Given the description of an element on the screen output the (x, y) to click on. 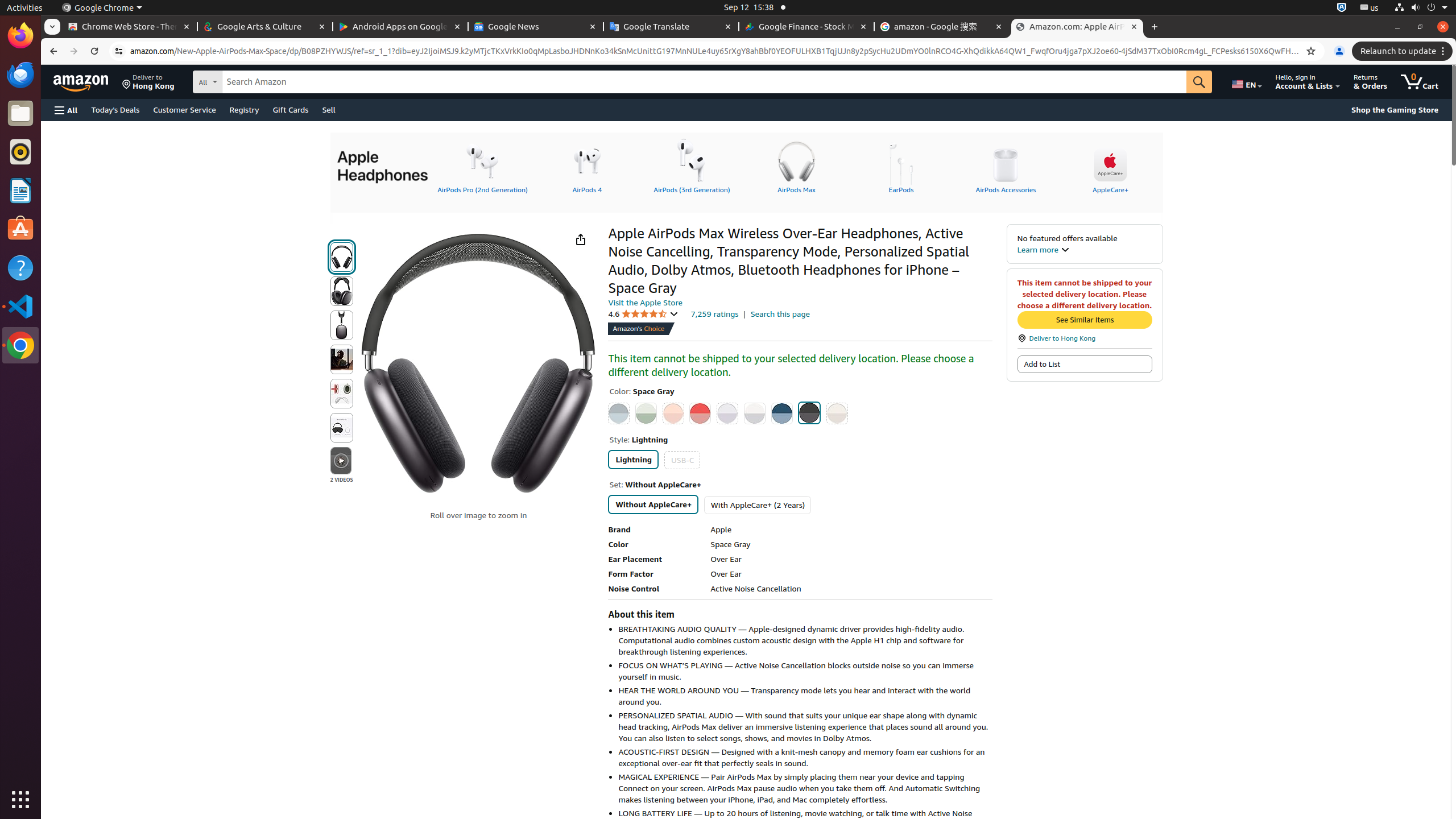
Google Arts & Culture - Memory usage - 57.6 MB Element type: page-tab (264, 26)
AirPods Accessories Element type: link (1005, 165)
Show Applications Element type: toggle-button (20, 799)
Gift Cards Element type: link (290, 109)
Space Gray Element type: push-button (809, 412)
